Given the description of an element on the screen output the (x, y) to click on. 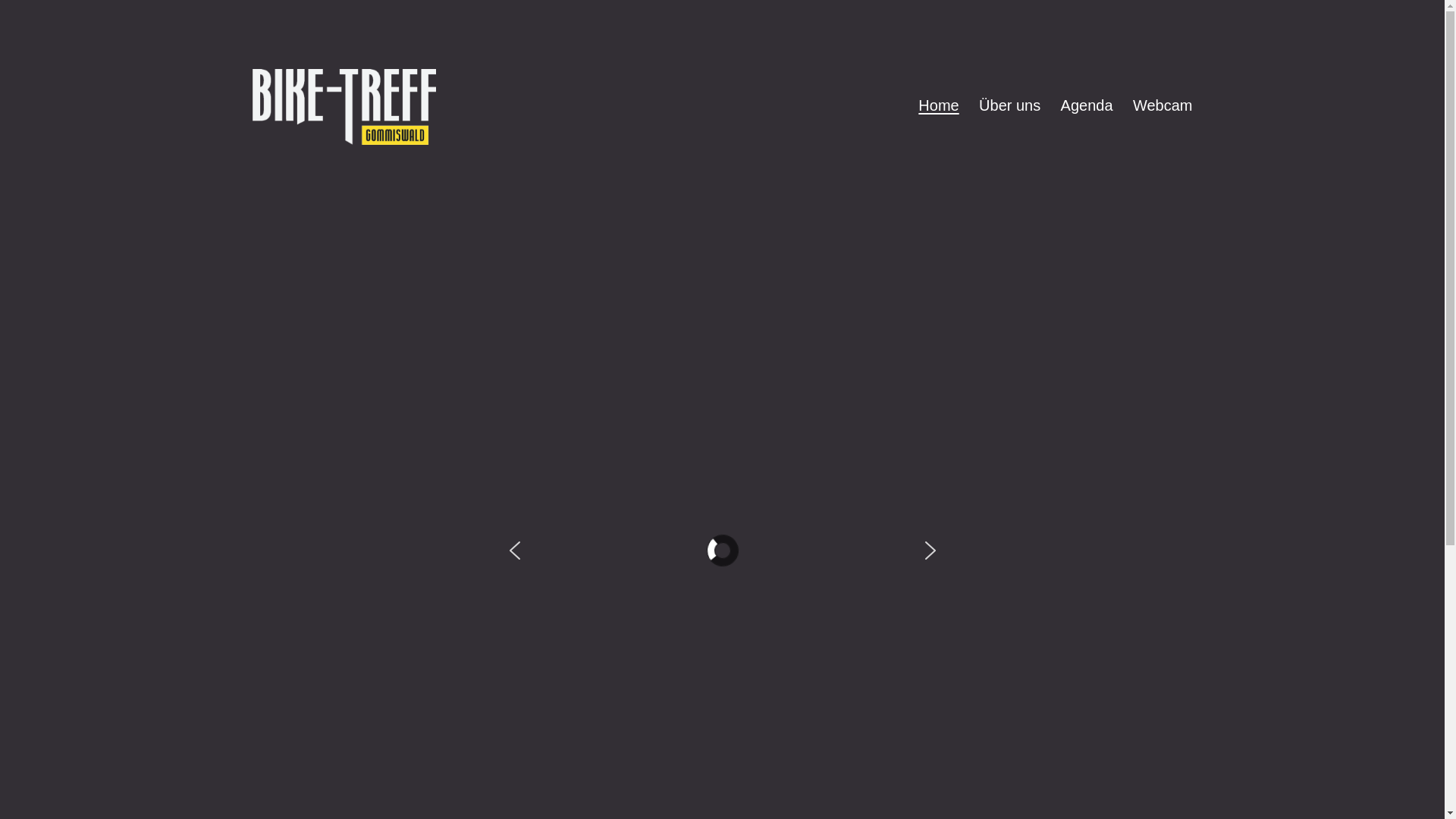
Agenda Element type: text (1086, 104)
Webcam Element type: text (1162, 104)
Home Element type: text (938, 104)
